Given the description of an element on the screen output the (x, y) to click on. 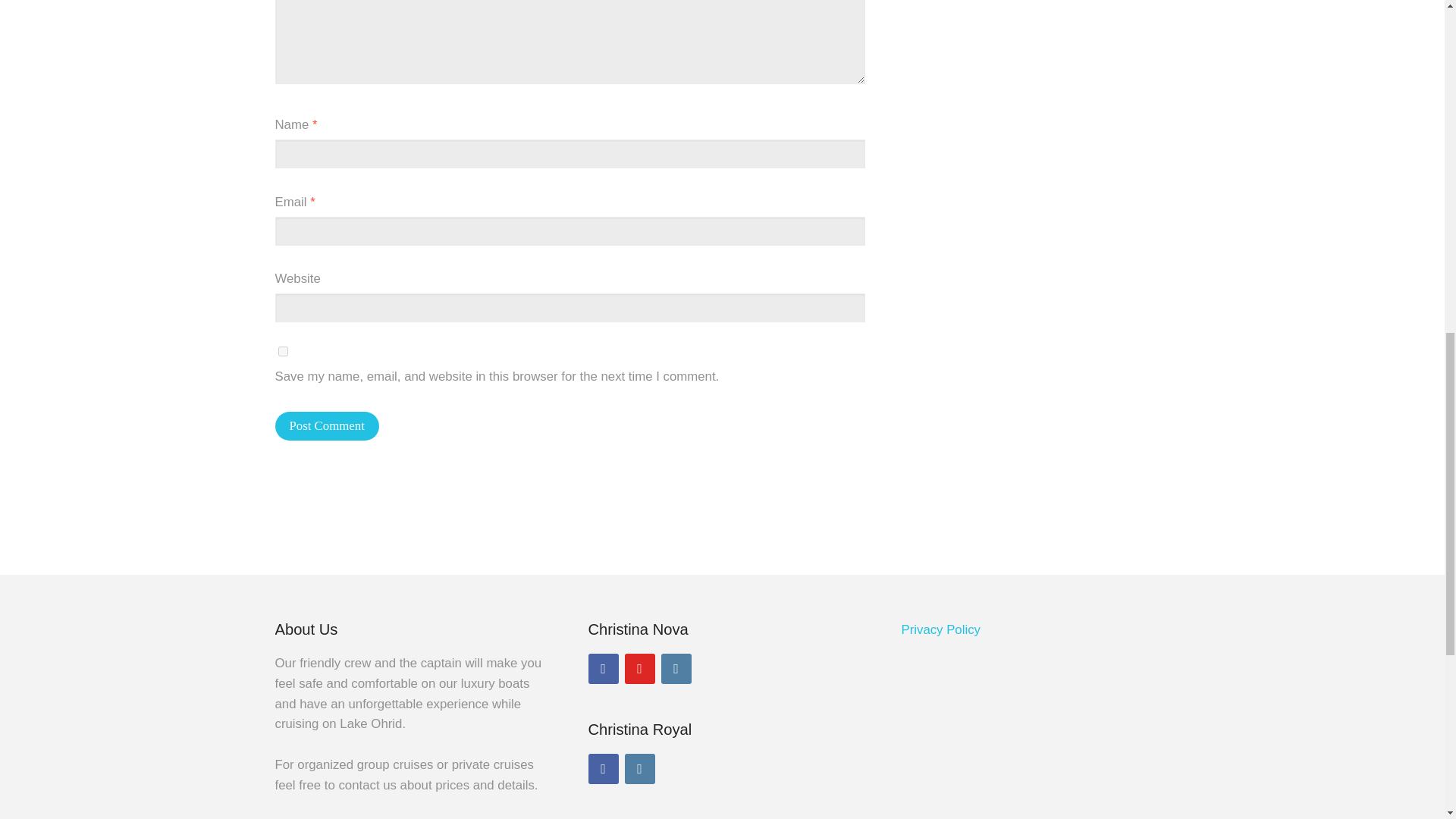
Post Comment (326, 425)
Instagram (676, 668)
YouTube (639, 668)
Facebook (603, 768)
Post Comment (326, 425)
Instagram (639, 768)
yes (282, 351)
Facebook (603, 668)
Privacy Policy (940, 629)
